Given the description of an element on the screen output the (x, y) to click on. 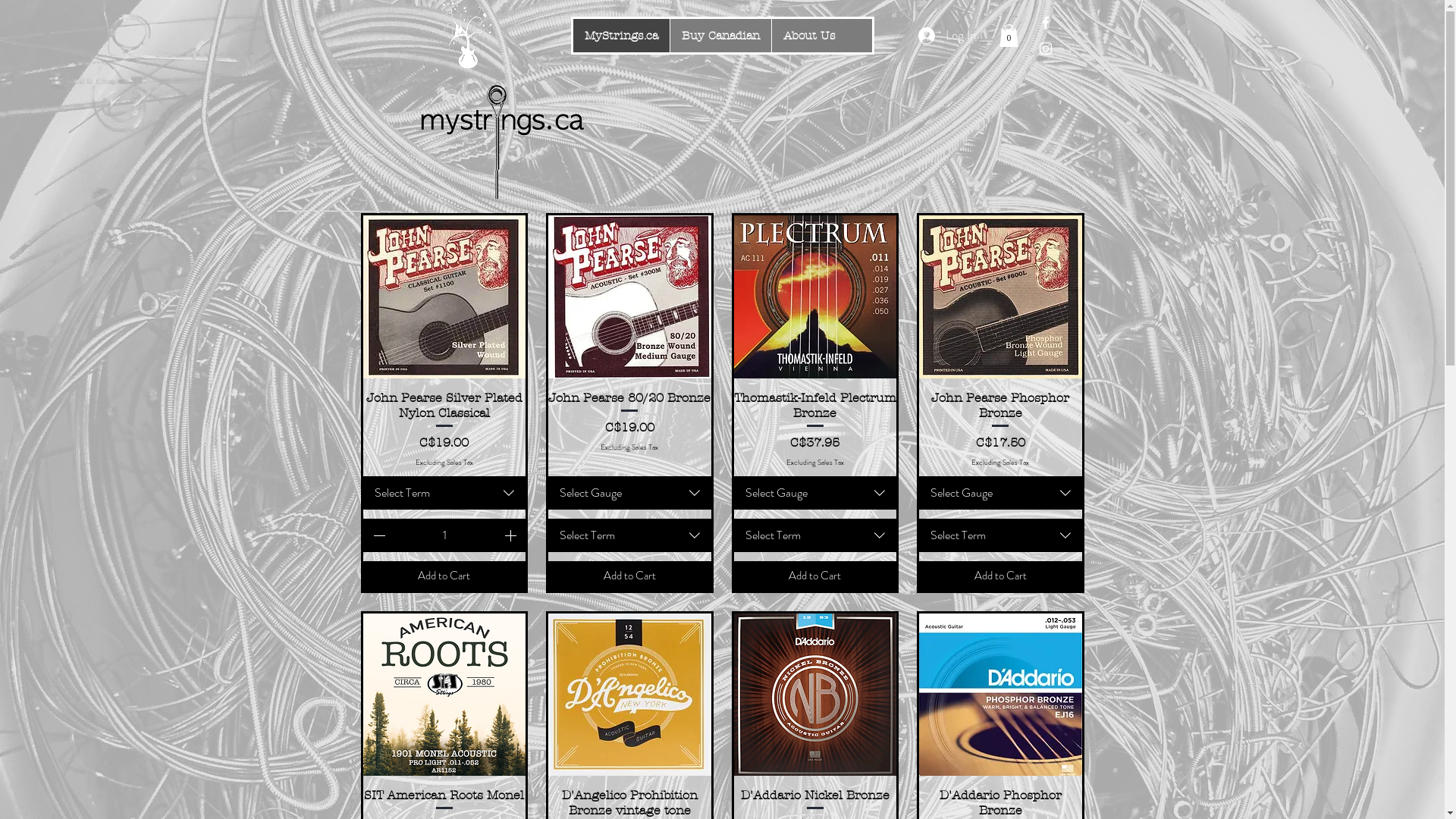
Select Gauge Element type: text (815, 492)
Select Term Element type: text (815, 535)
Back to MyStrings.ca home Element type: hover (501, 145)
Home Element type: hover (466, 35)
0 Element type: text (1008, 35)
Add to Cart Element type: text (1000, 575)
MyStrings.ca Element type: text (621, 35)
John Pearse 80/20 Bronze
Price
C$19.00
Excluding Sales Tax Element type: text (629, 427)
Select Gauge Element type: text (1000, 492)
Select Term Element type: text (629, 535)
Add to Cart Element type: text (629, 575)
About Us Element type: text (808, 35)
Select Term Element type: text (443, 492)
Buy Canadian Element type: text (719, 35)
Add to Cart Element type: text (815, 575)
Add to Cart Element type: text (443, 575)
Select Term Element type: text (1000, 535)
Log In Element type: text (938, 35)
Select Gauge Element type: text (629, 492)
